Given the description of an element on the screen output the (x, y) to click on. 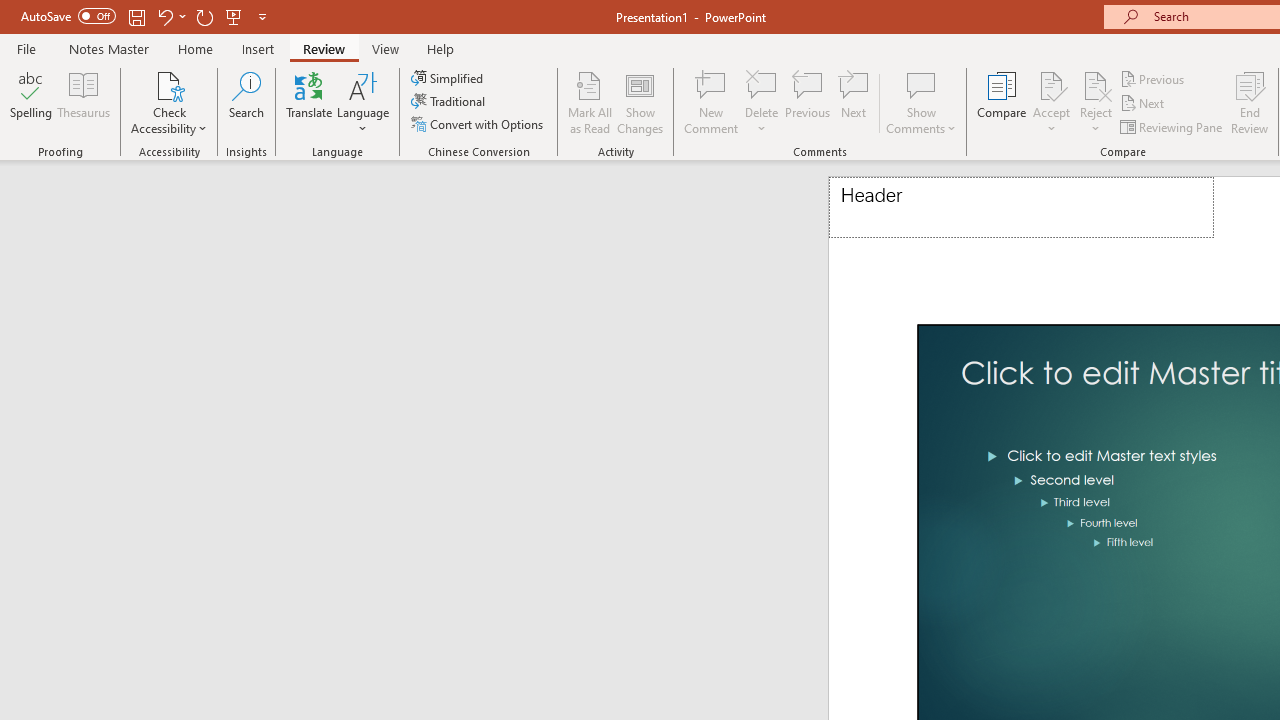
Show Changes (639, 102)
Simplified (449, 78)
End Review (1249, 102)
Reject Change (1096, 84)
Traditional (449, 101)
Accept (1051, 102)
